Given the description of an element on the screen output the (x, y) to click on. 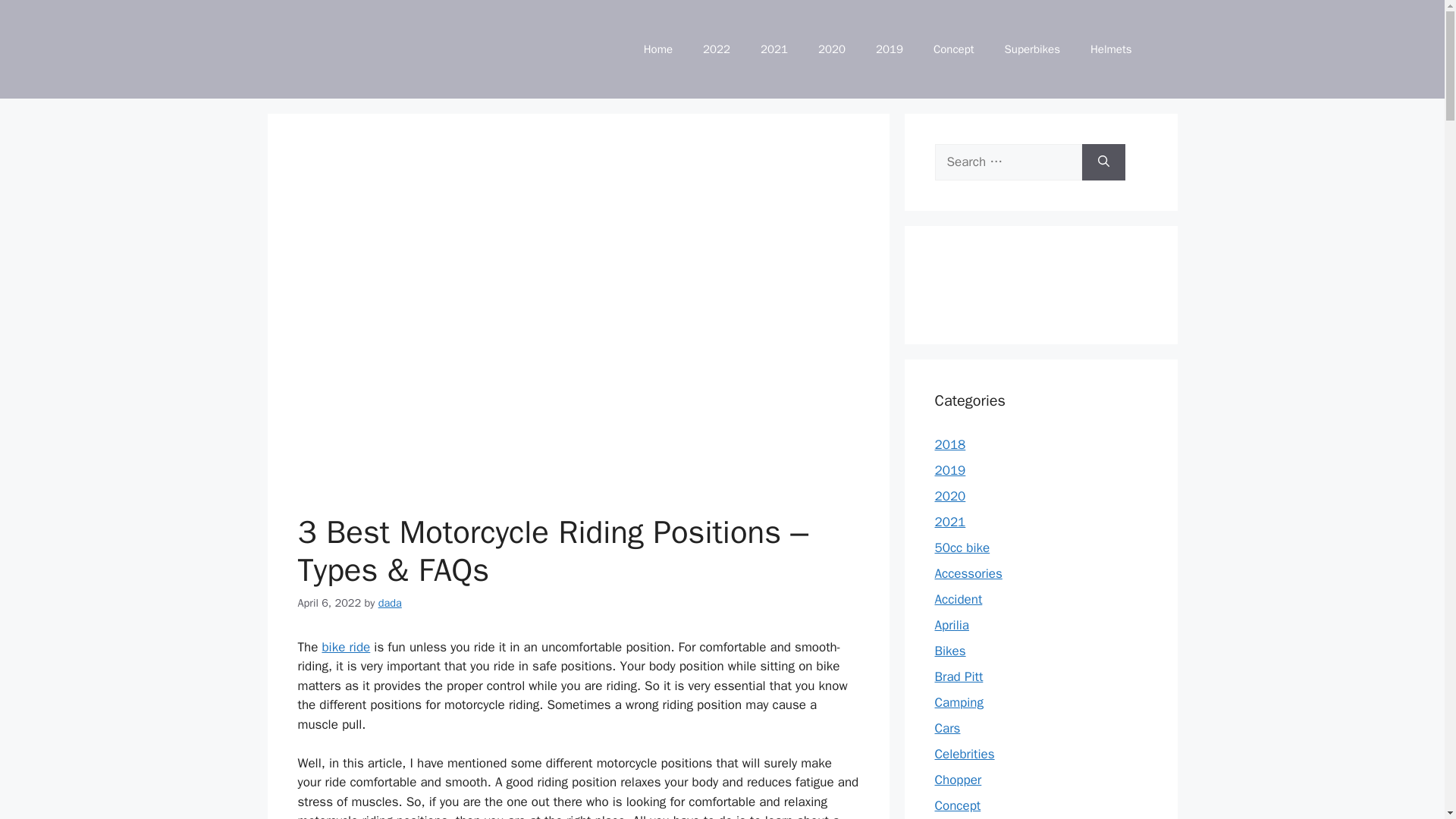
Accident (957, 599)
Search for: (1007, 162)
2019 (889, 49)
2018 (949, 444)
50cc bike (962, 547)
2021 (949, 521)
View all posts by dada (389, 602)
dada (389, 602)
2022 (716, 49)
2019 (949, 470)
2020 (949, 496)
Aprilia (951, 625)
Home (657, 49)
2020 (831, 49)
Accessories (967, 573)
